Given the description of an element on the screen output the (x, y) to click on. 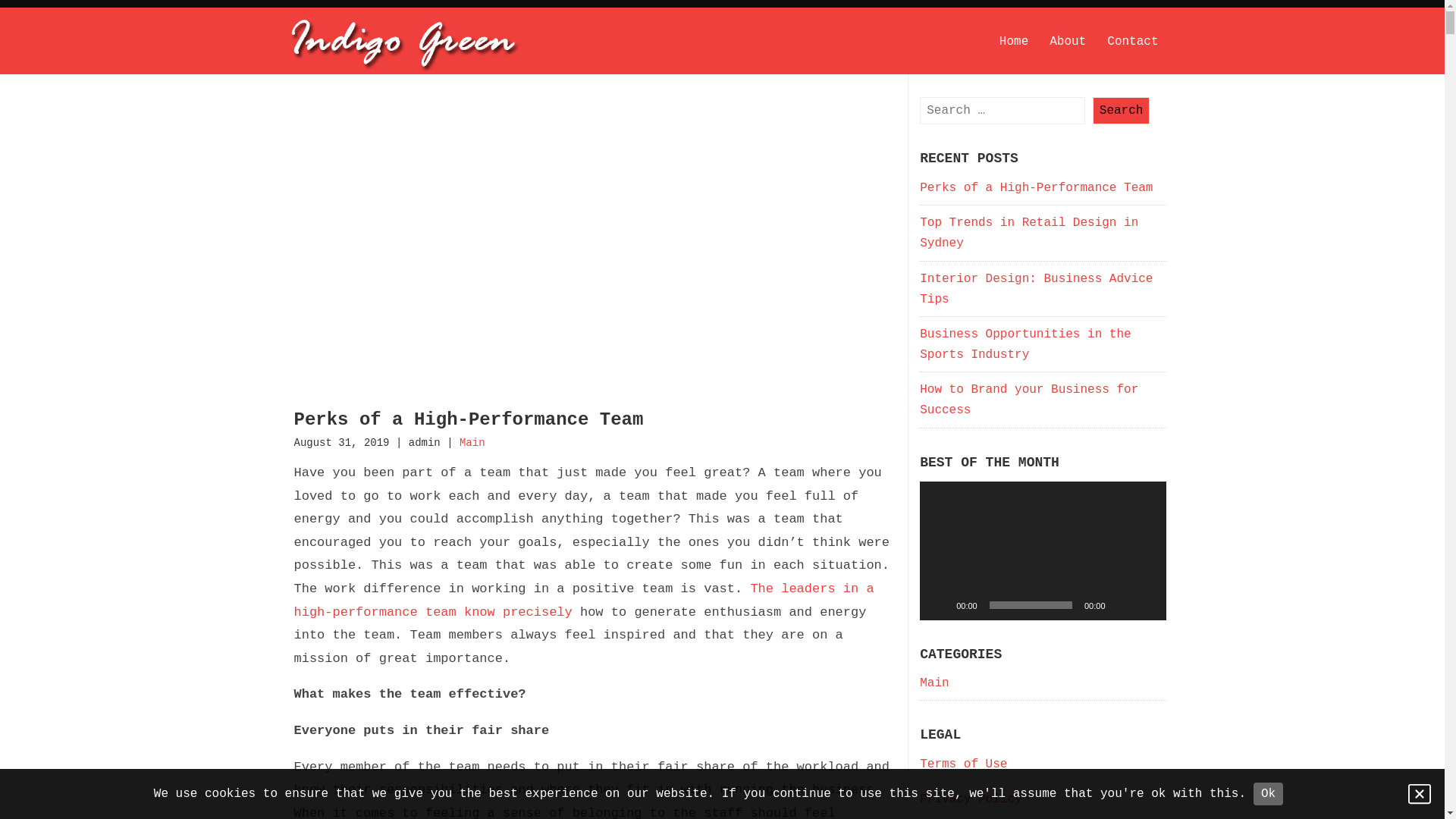
Interior Design: Business Advice Tips Element type: text (1035, 289)
Business Opportunities in the Sports Industry Element type: text (1024, 344)
Terms of Use Element type: text (963, 764)
About Element type: text (1067, 41)
Play Element type: hover (939, 604)
Perks of a High-Performance Team Element type: text (1035, 187)
Contact Element type: text (1132, 41)
Fullscreen Element type: hover (1146, 604)
Top Trends in Retail Design in Sydney Element type: text (1028, 233)
Ok Element type: text (1268, 793)
The leaders in a high-performance team know precisely Element type: text (584, 600)
Perks of a High-Performance Team Element type: text (468, 419)
Search Element type: text (1121, 110)
How to Brand your Business for Success Element type: text (1028, 399)
Main Element type: text (472, 442)
Privacy Policy Element type: text (970, 799)
Mute Element type: hover (1121, 604)
Home Element type: text (1013, 41)
Main Element type: text (933, 683)
